Given the description of an element on the screen output the (x, y) to click on. 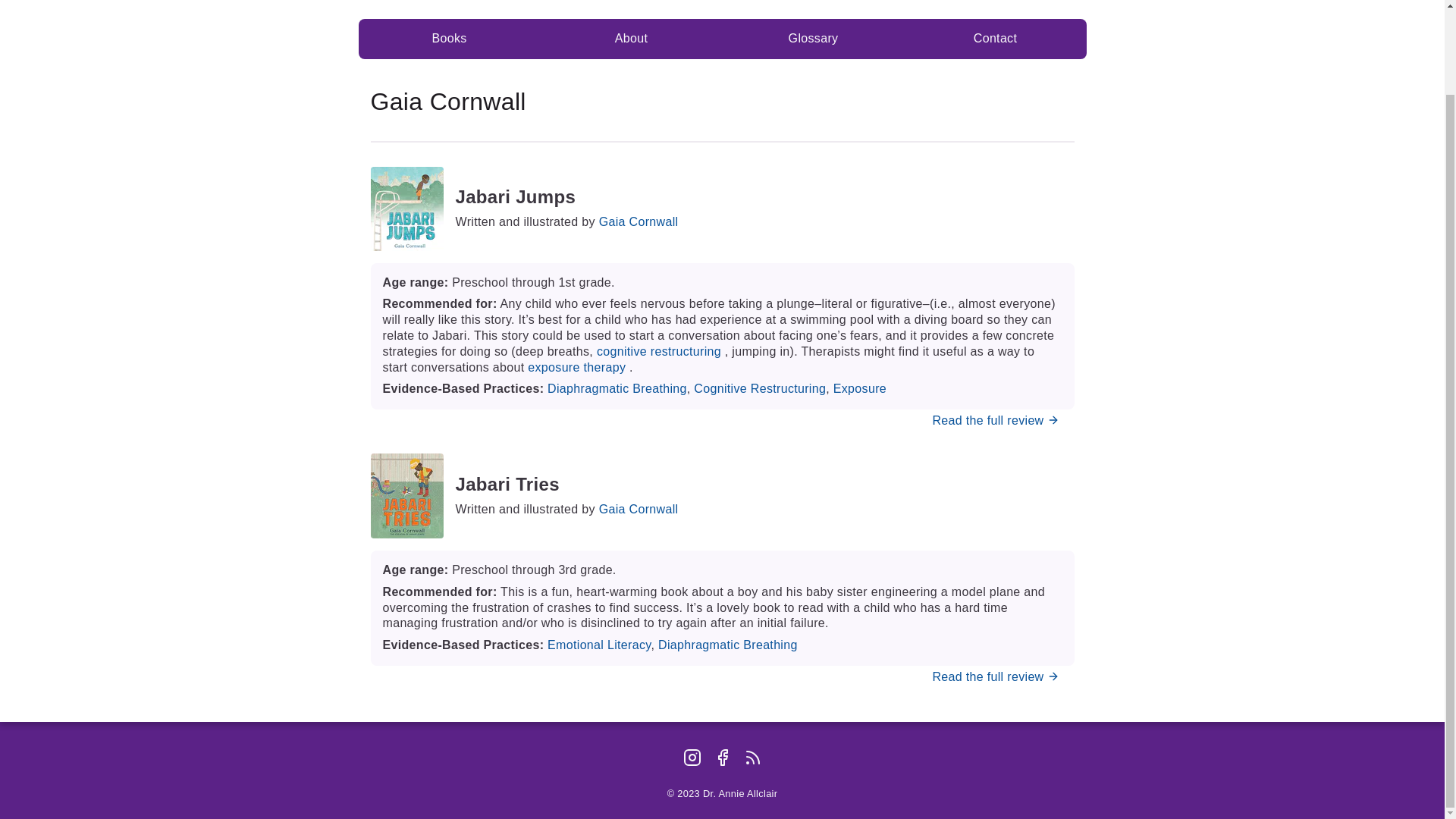
Glossary (813, 38)
Exposure (859, 388)
Jabari Tries (566, 485)
Age range: Preschool through 1st grade. (721, 283)
Contact (995, 38)
cognitive restructuring (658, 350)
Books (449, 38)
Cognitive Restructuring (759, 388)
Gaia Cornwall (638, 508)
Read full post (996, 676)
RSS Feed (751, 757)
Gaia Cornwall (638, 221)
About (631, 38)
Evidence-Based Practices: (464, 644)
Instagram (691, 757)
